Given the description of an element on the screen output the (x, y) to click on. 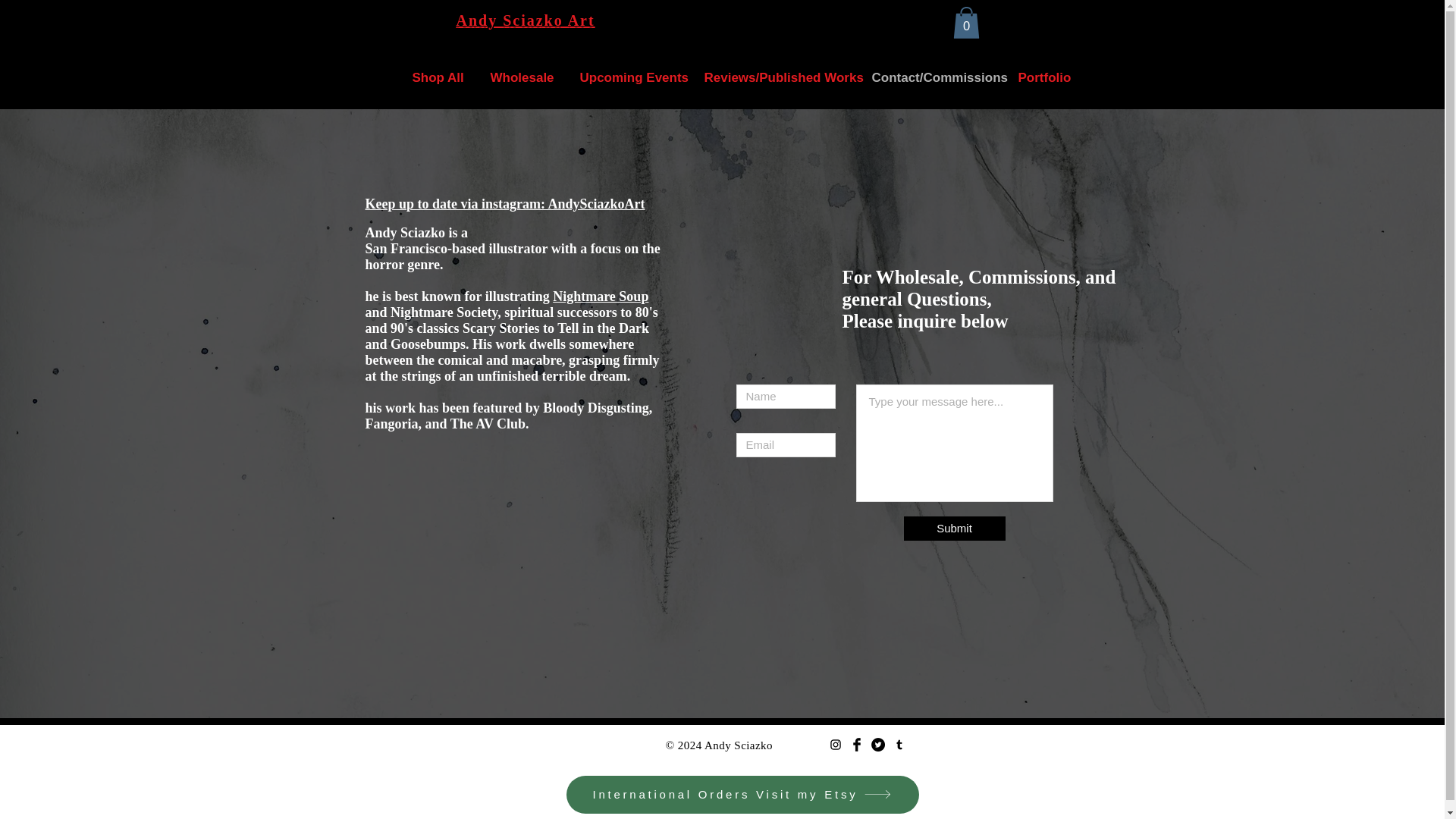
Submit (955, 528)
International Orders Visit my Etsy (742, 794)
Portfolio (1039, 76)
Nightmare Soup (600, 296)
Upcoming Events (622, 76)
Andy Sciazko Art (526, 20)
Keep up to date via instagram: AndySciazkoArt (505, 204)
Wholesale (515, 76)
Shop All (431, 76)
